Given the description of an element on the screen output the (x, y) to click on. 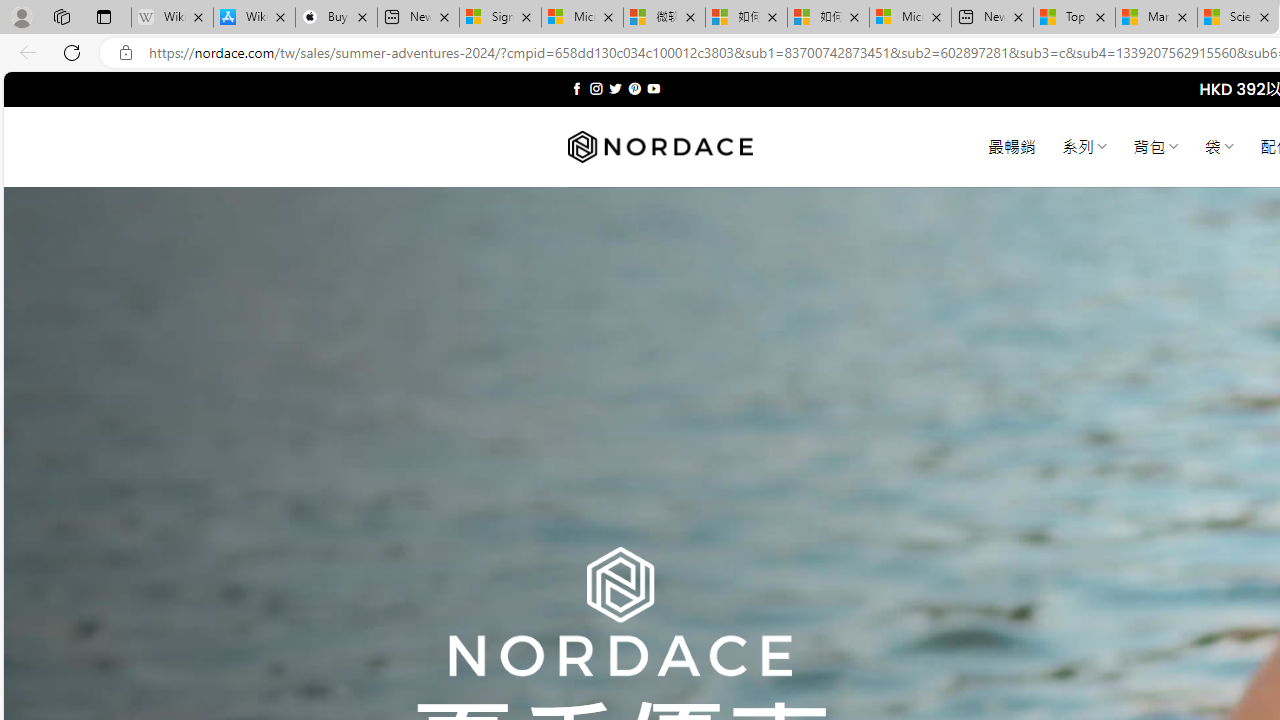
Sign in to your Microsoft account (500, 17)
Follow on YouTube (653, 88)
Buy iPad - Apple (336, 17)
Personal Profile (21, 16)
Marine life - MSN (1156, 17)
Close tab (1264, 16)
Back (24, 52)
Nordace (659, 147)
Follow on Facebook (576, 88)
Follow on Twitter (615, 88)
View site information (125, 53)
